Given the description of an element on the screen output the (x, y) to click on. 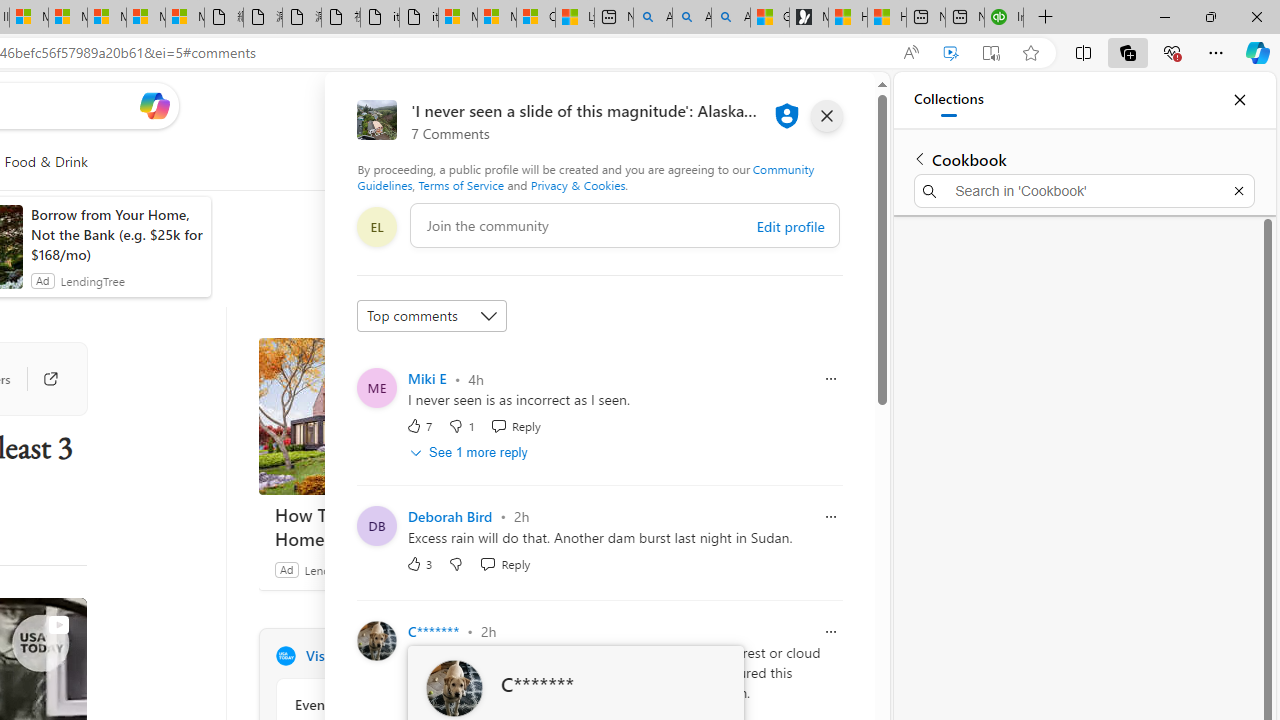
Alabama high school quarterback dies - Search Videos (730, 17)
USA TODAY (285, 655)
Borrow from Your Home, Not the Bank (e.g. $25k for $168/mo) (116, 234)
Go to publisher's site (40, 378)
Privacy & Cookies (577, 184)
Edit profile (790, 226)
